Given the description of an element on the screen output the (x, y) to click on. 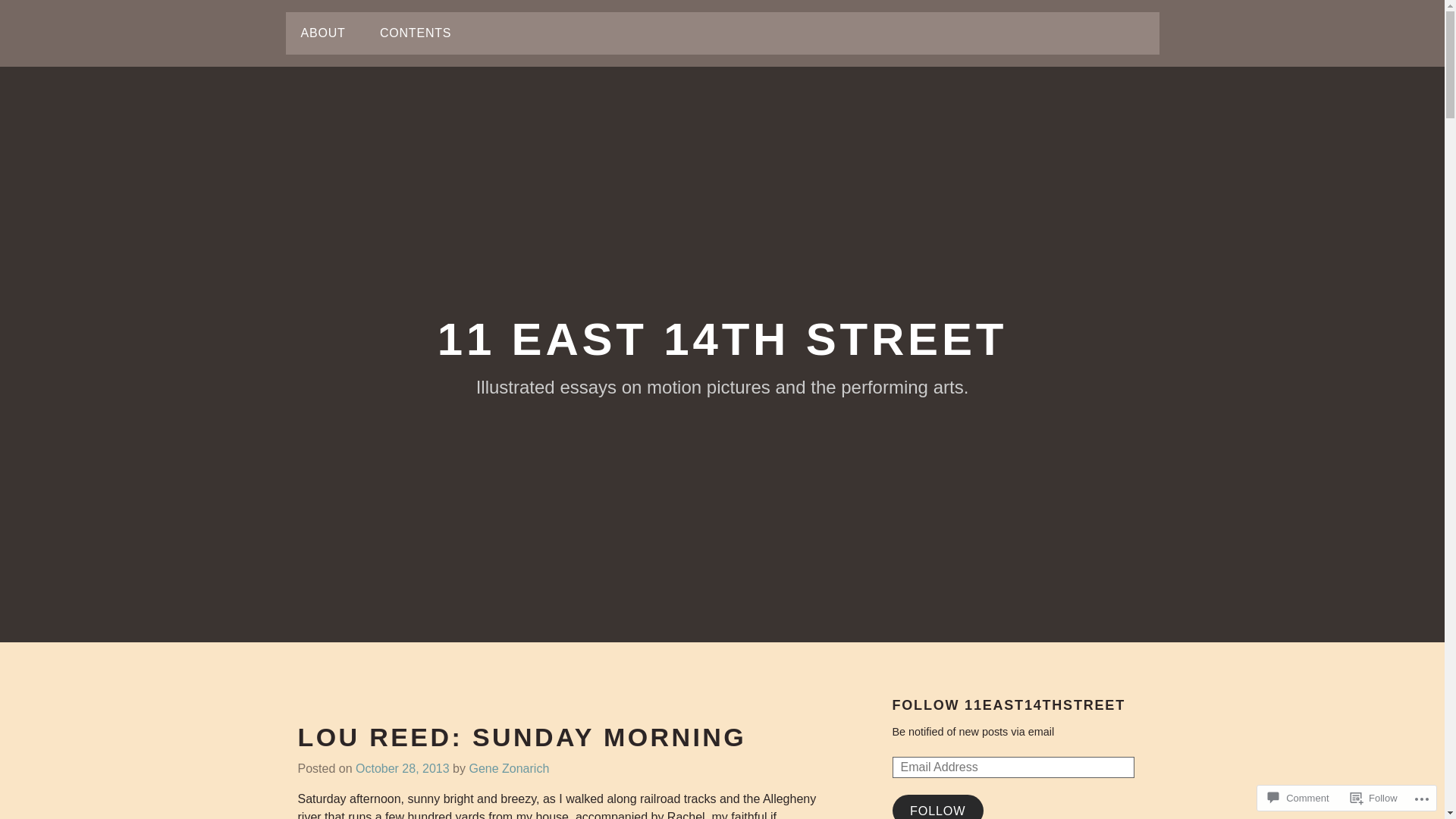
Comment Element type: text (1297, 797)
CONTENTS Element type: text (415, 33)
ABOUT Element type: text (322, 33)
11 EAST 14TH STREET Element type: text (722, 338)
Gene Zonarich Element type: text (508, 769)
Follow Element type: text (1373, 797)
October 28, 2013 Element type: text (402, 769)
